Given the description of an element on the screen output the (x, y) to click on. 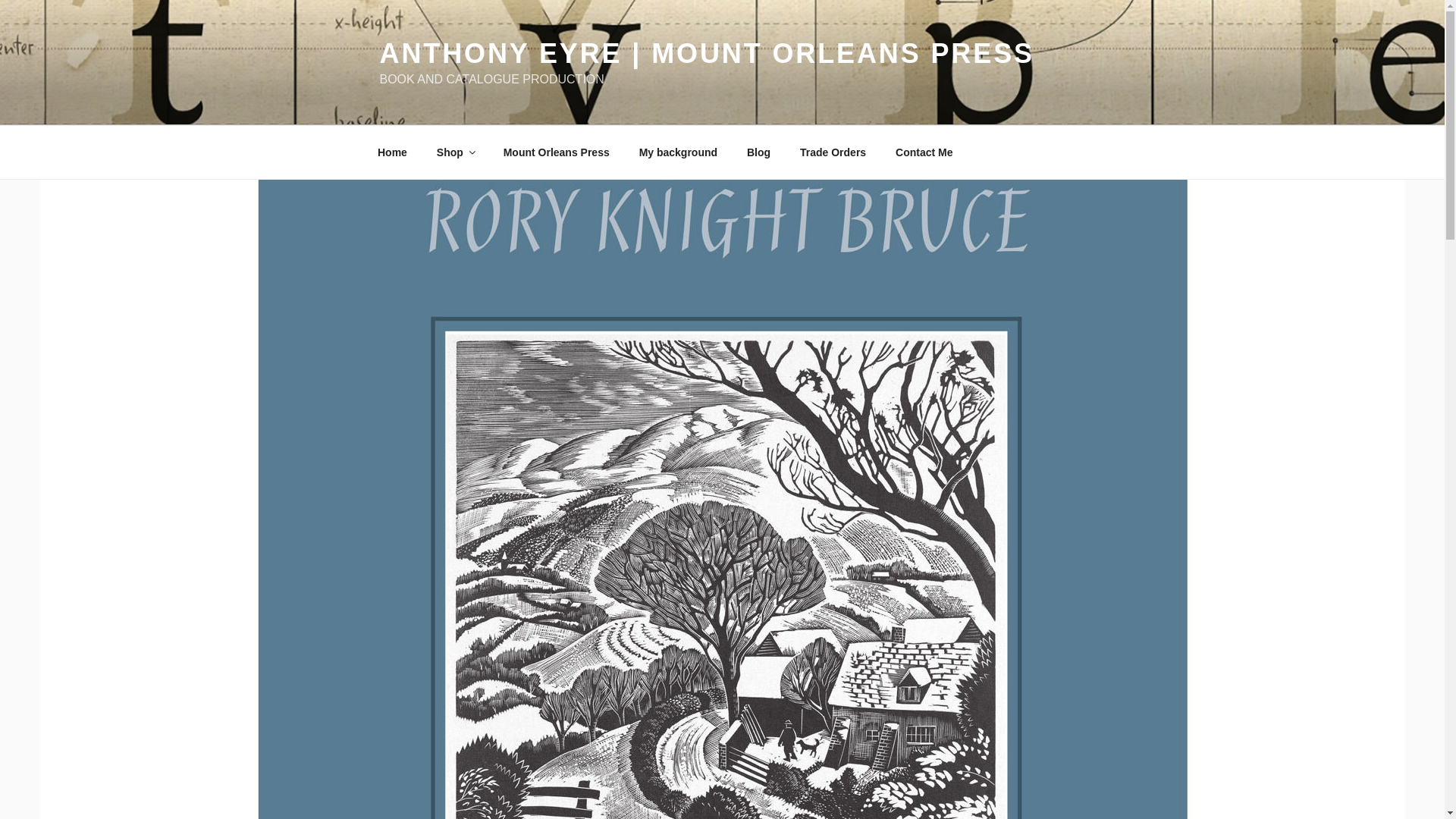
Contact Me (924, 151)
Trade Orders (832, 151)
Blog (758, 151)
Shop (454, 151)
Home (392, 151)
My background (678, 151)
Mount Orleans Press (556, 151)
